Given the description of an element on the screen output the (x, y) to click on. 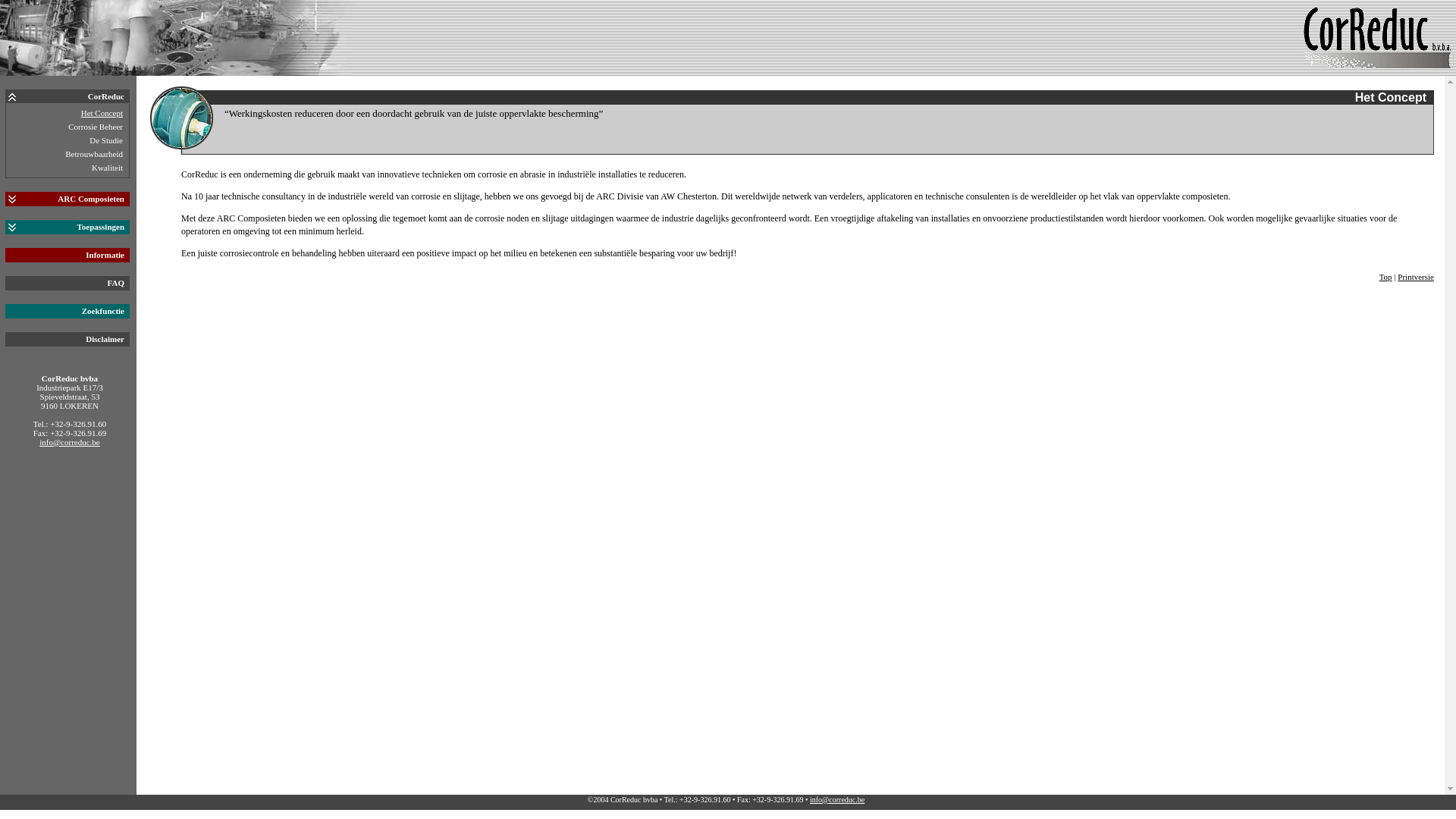
FAQ Element type: text (117, 282)
Printversie Element type: text (1415, 276)
info@correduc.be Element type: text (836, 799)
Corrosie Beheer Element type: text (95, 126)
Toepassingen Element type: text (102, 226)
Betrouwbaarheid Element type: text (93, 153)
Het Concept Element type: text (101, 112)
De Studie Element type: text (105, 139)
info@correduc.be Element type: text (69, 441)
Disclaimer Element type: text (106, 338)
Kwaliteit Element type: text (106, 167)
Top Element type: text (1385, 276)
Zoekfunctie Element type: text (104, 310)
CorReduc Element type: text (107, 95)
ARC Composieten Element type: text (92, 198)
Informatie Element type: text (106, 254)
